Given the description of an element on the screen output the (x, y) to click on. 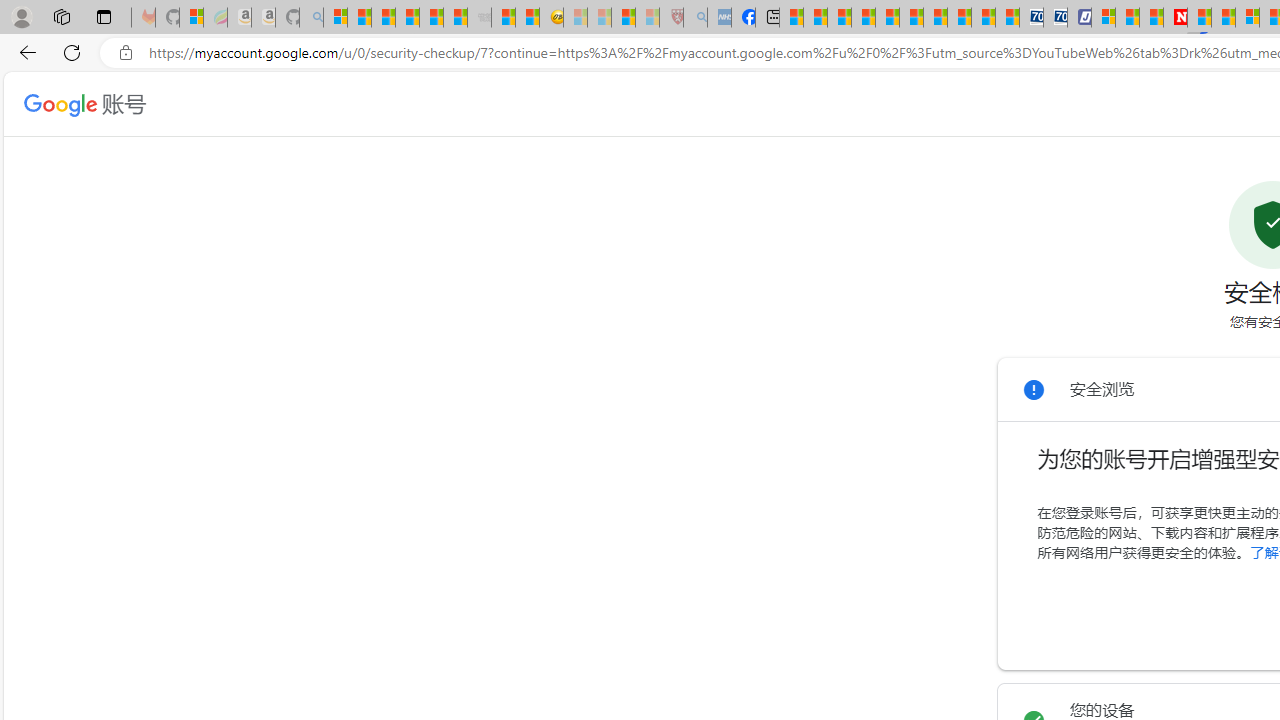
Combat Siege - Sleeping (479, 17)
Trusted Community Engagement and Contributions | Guidelines (1198, 17)
14 Common Myths Debunked By Scientific Facts (1223, 17)
Robert H. Shmerling, MD - Harvard Health - Sleeping (671, 17)
Microsoft-Report a Concern to Bing (191, 17)
list of asthma inhalers uk - Search - Sleeping (694, 17)
NCL Adult Asthma Inhaler Choice Guideline - Sleeping (718, 17)
